Given the description of an element on the screen output the (x, y) to click on. 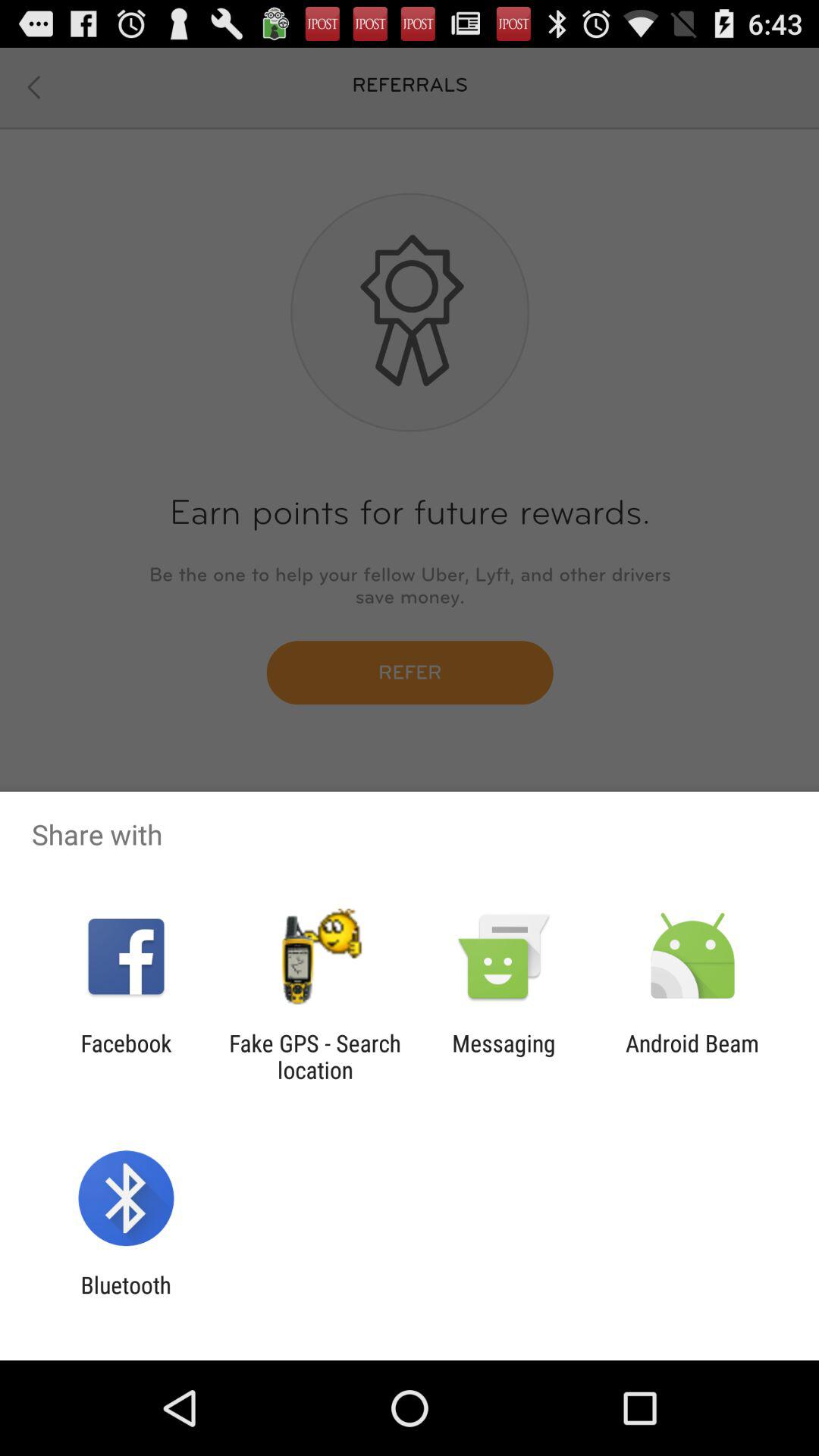
open the bluetooth item (125, 1298)
